Given the description of an element on the screen output the (x, y) to click on. 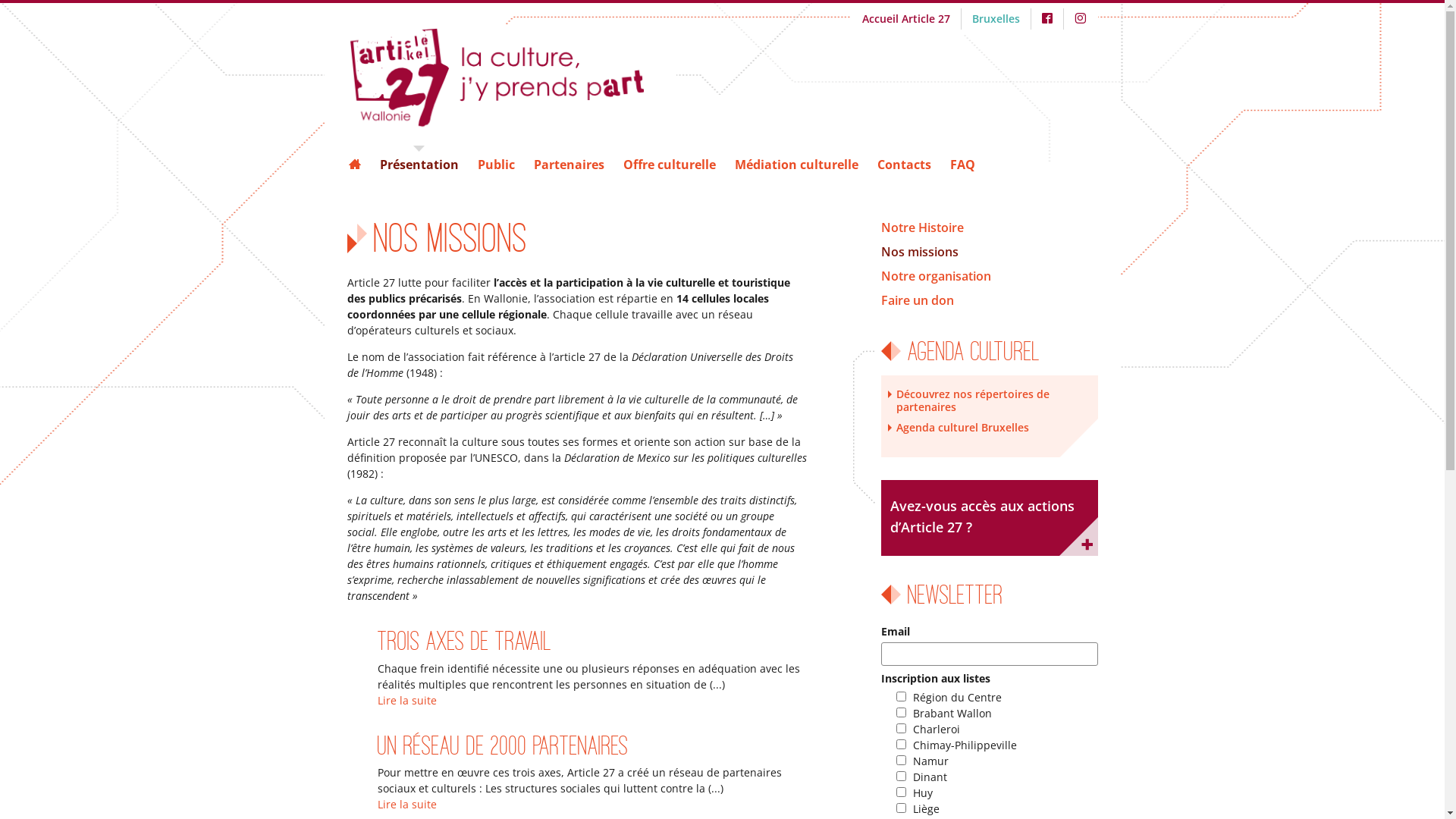
Faire un don Element type: text (989, 299)
Bruxelles Element type: text (995, 18)
Offre culturelle Element type: text (669, 164)
Partenaires Element type: text (568, 164)
Contacts Element type: text (903, 164)
Public Element type: text (496, 164)
Trois axes de travail Element type: text (464, 640)
Lire la suite Element type: text (406, 804)
Agenda culturel Bruxelles Element type: text (989, 427)
Lire la suite Element type: text (406, 700)
Nos missions Element type: text (989, 251)
Notre organisation Element type: text (989, 275)
Accueil Article 27 Element type: text (905, 18)
Accueil Element type: hover (357, 164)
Notre Histoire Element type: text (989, 227)
Accueil Element type: hover (511, 78)
FAQ Element type: text (961, 164)
